Given the description of an element on the screen output the (x, y) to click on. 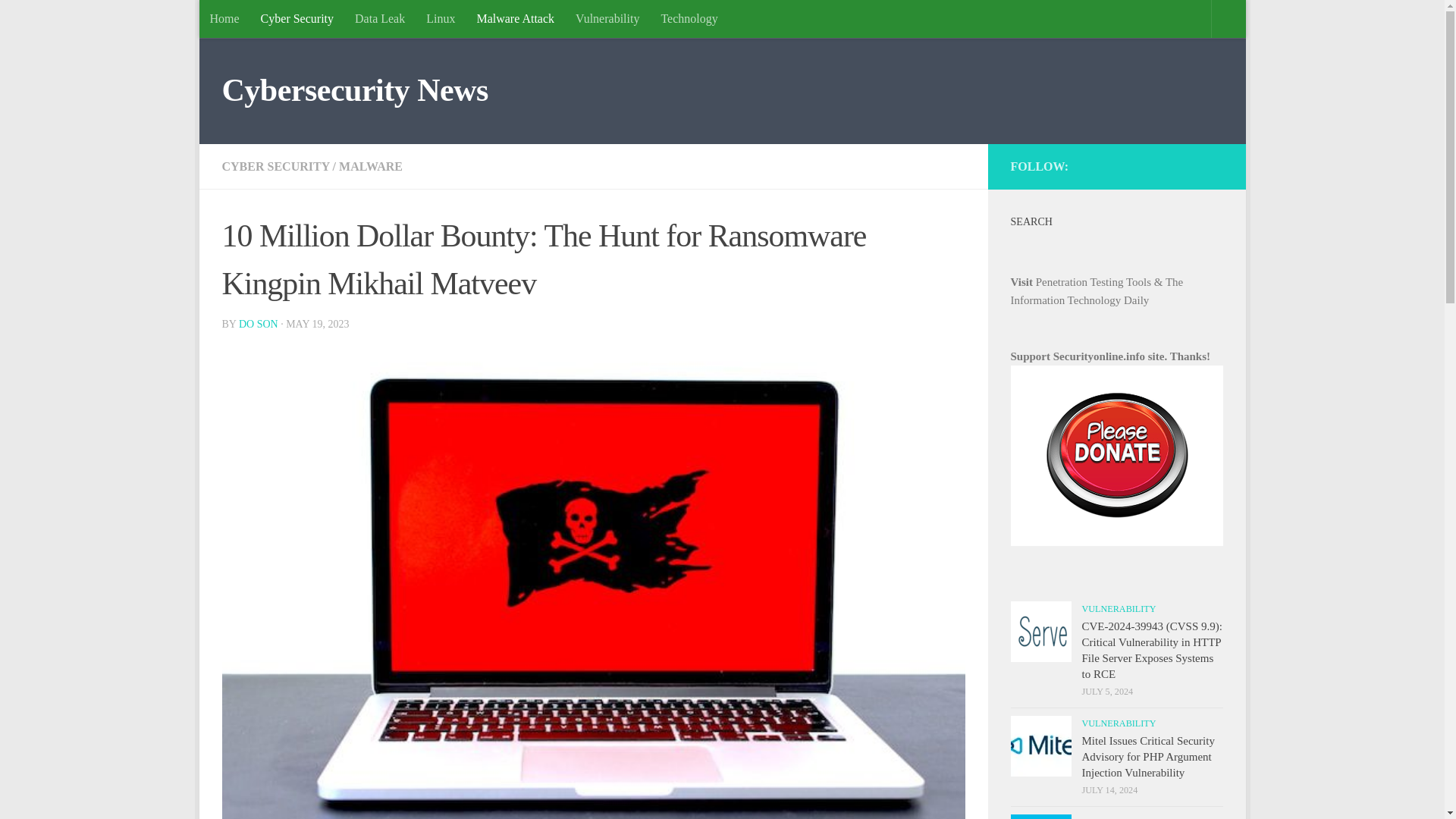
Linux (439, 18)
Cybersecurity News (354, 90)
The Information Technology Daily (1096, 291)
Data Leak (378, 18)
Posts by do son (258, 324)
Technology (688, 18)
Penetration Testing Tools (1093, 282)
DO SON (258, 324)
Cyber Security (296, 18)
Home (223, 18)
VULNERABILITY (1118, 608)
Skip to content (258, 20)
CYBER SECURITY (275, 165)
Malware Attack (514, 18)
Vulnerability (606, 18)
